Given the description of an element on the screen output the (x, y) to click on. 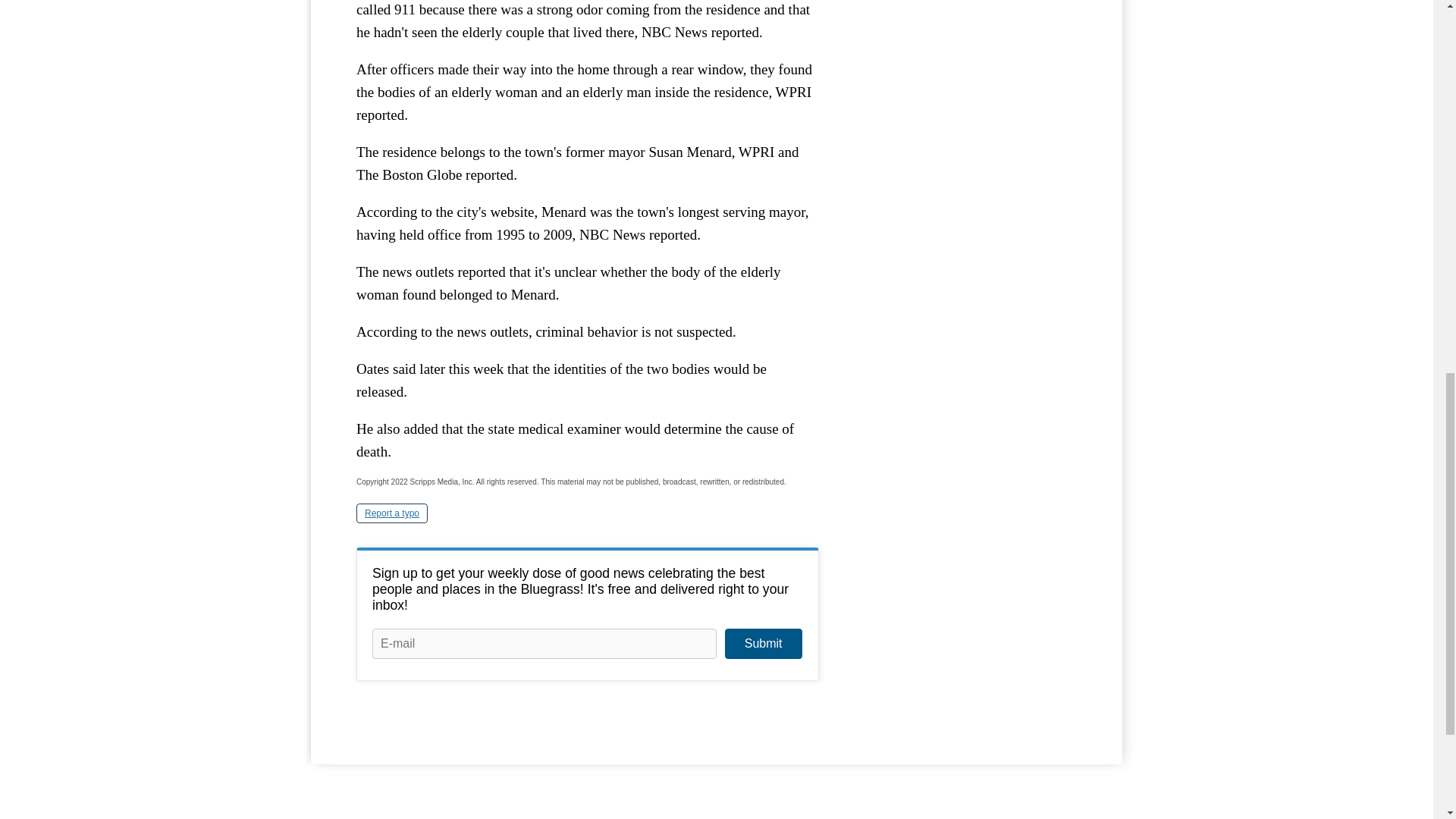
Submit (763, 643)
